Given the description of an element on the screen output the (x, y) to click on. 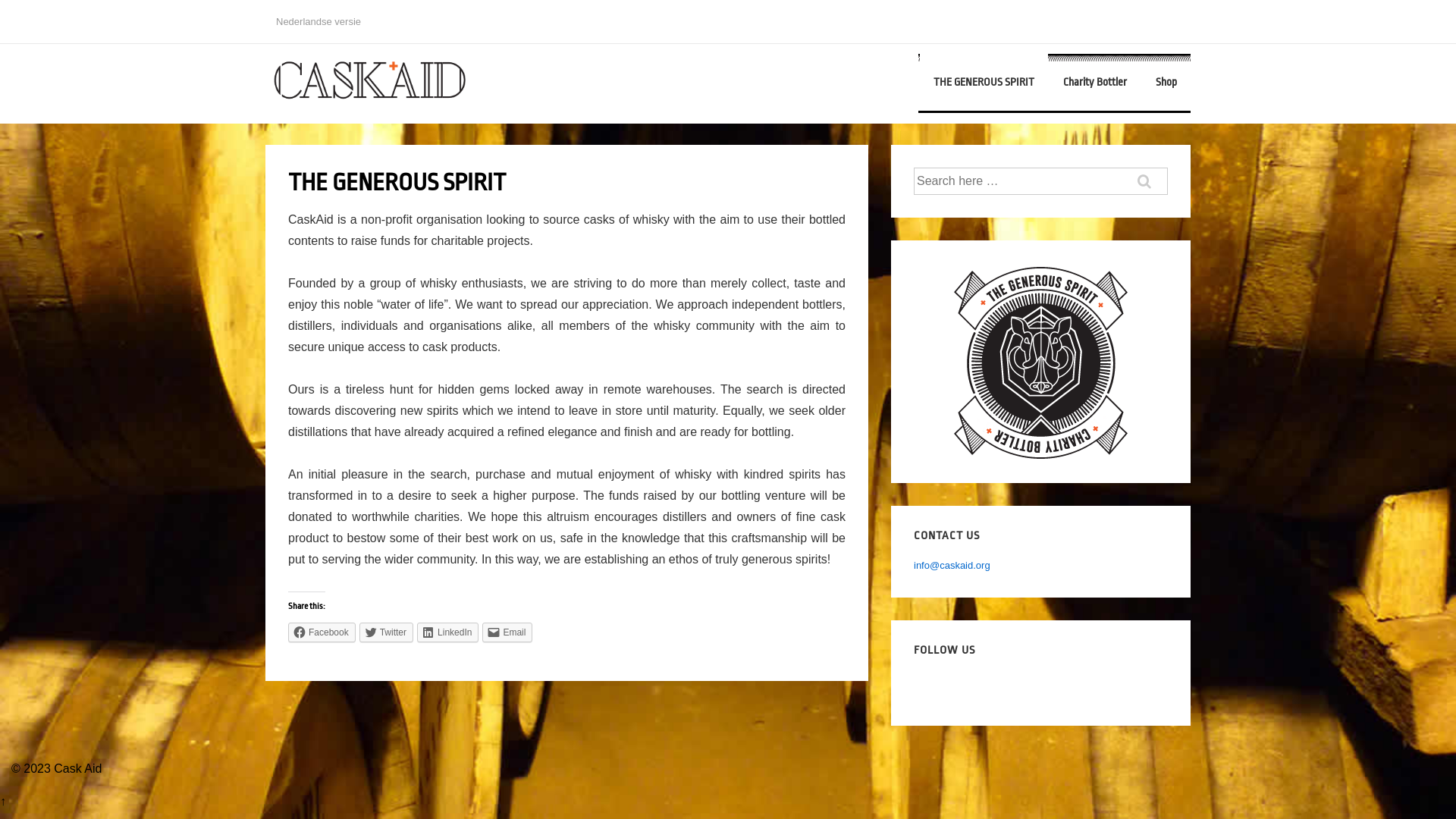
Facebook Element type: text (321, 632)
THE GENEROUS SPIRIT Element type: text (983, 81)
LinkedIn Element type: text (447, 632)
info@caskaid.org Element type: text (951, 565)
Cask Aid Element type: text (76, 768)
Nederlandse versie Element type: text (318, 21)
Charity Bottler Element type: text (1094, 81)
Email Element type: text (507, 632)
Shop Element type: text (1166, 81)
Twitter Element type: text (386, 632)
